Given the description of an element on the screen output the (x, y) to click on. 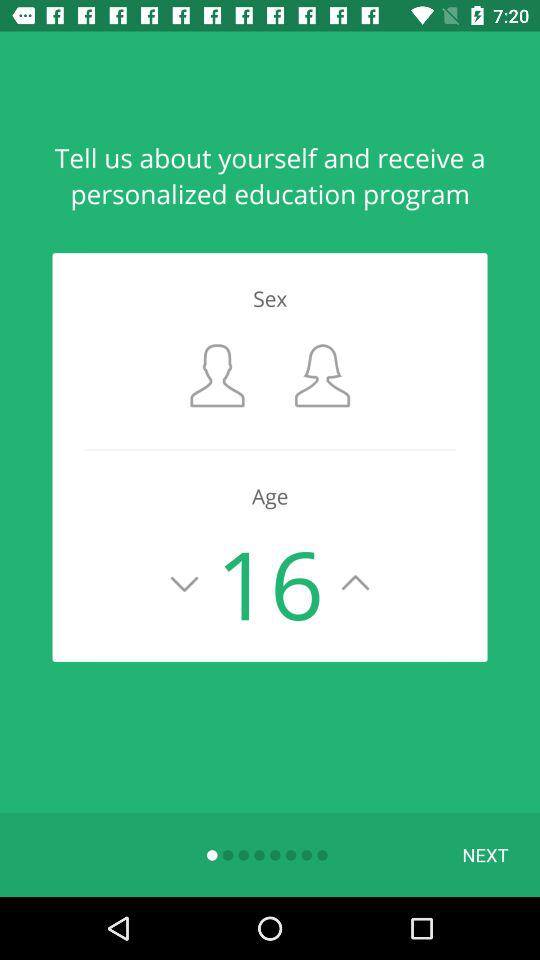
select the item below age icon (485, 854)
